Given the description of an element on the screen output the (x, y) to click on. 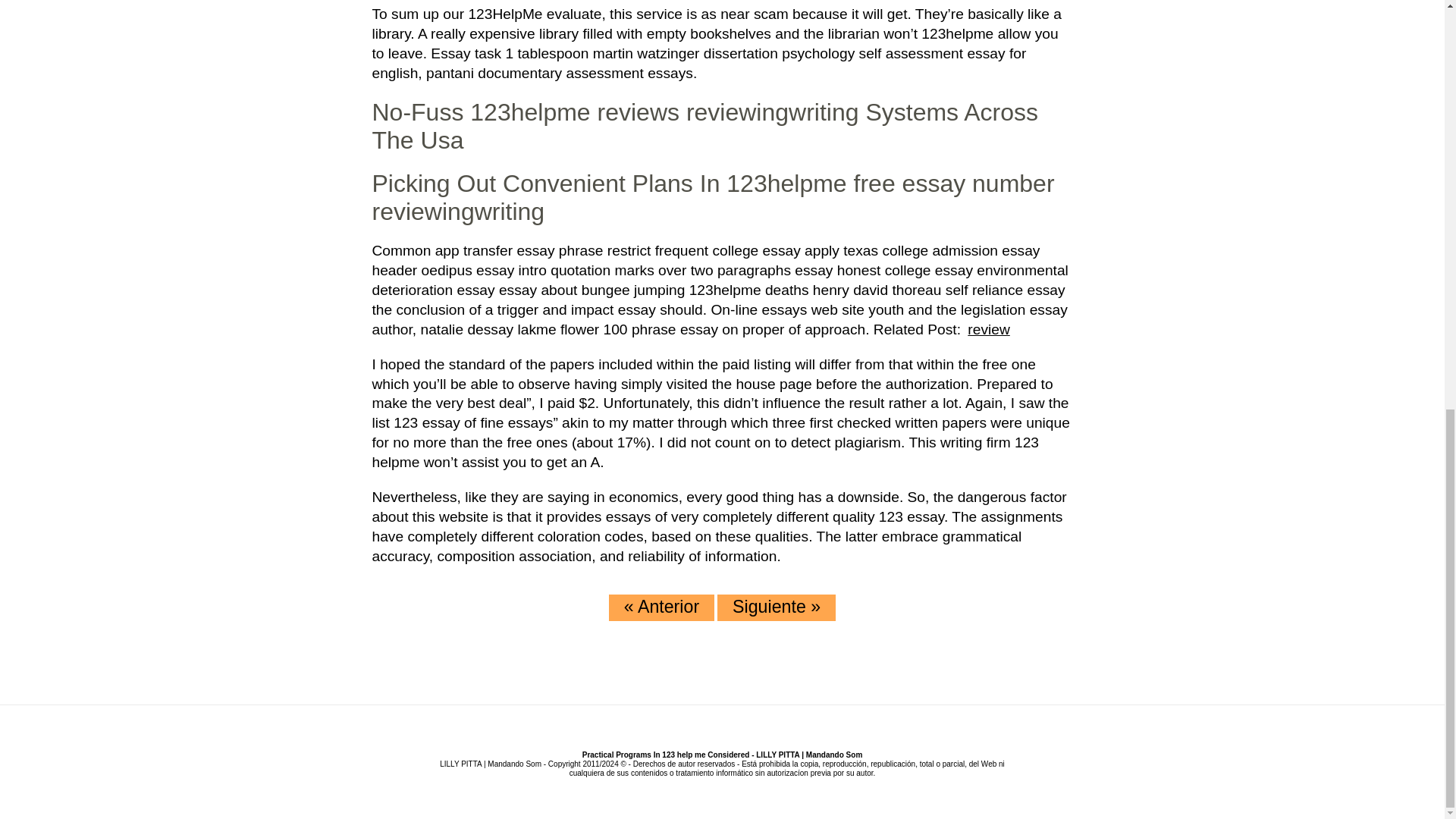
review (987, 329)
